Given the description of an element on the screen output the (x, y) to click on. 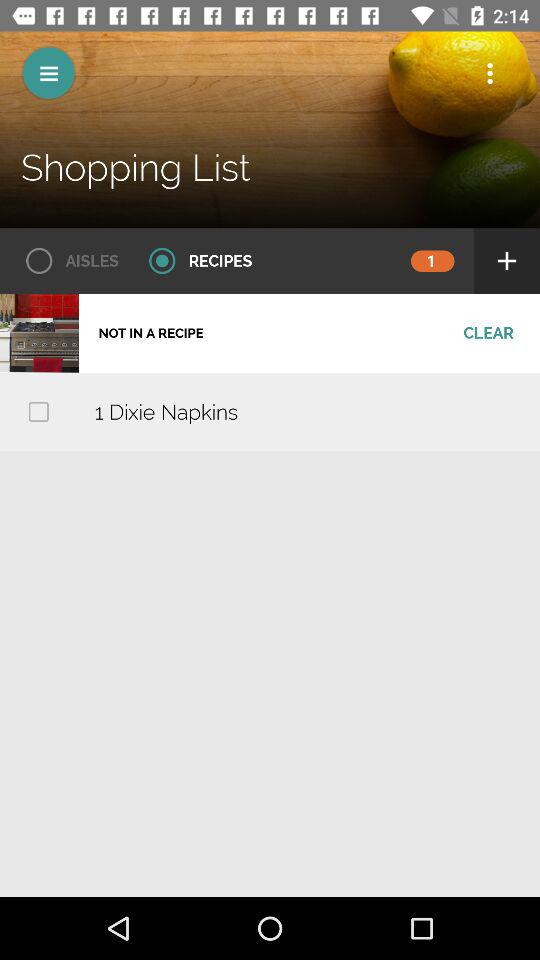
go to bookmarks and history (490, 73)
